Given the description of an element on the screen output the (x, y) to click on. 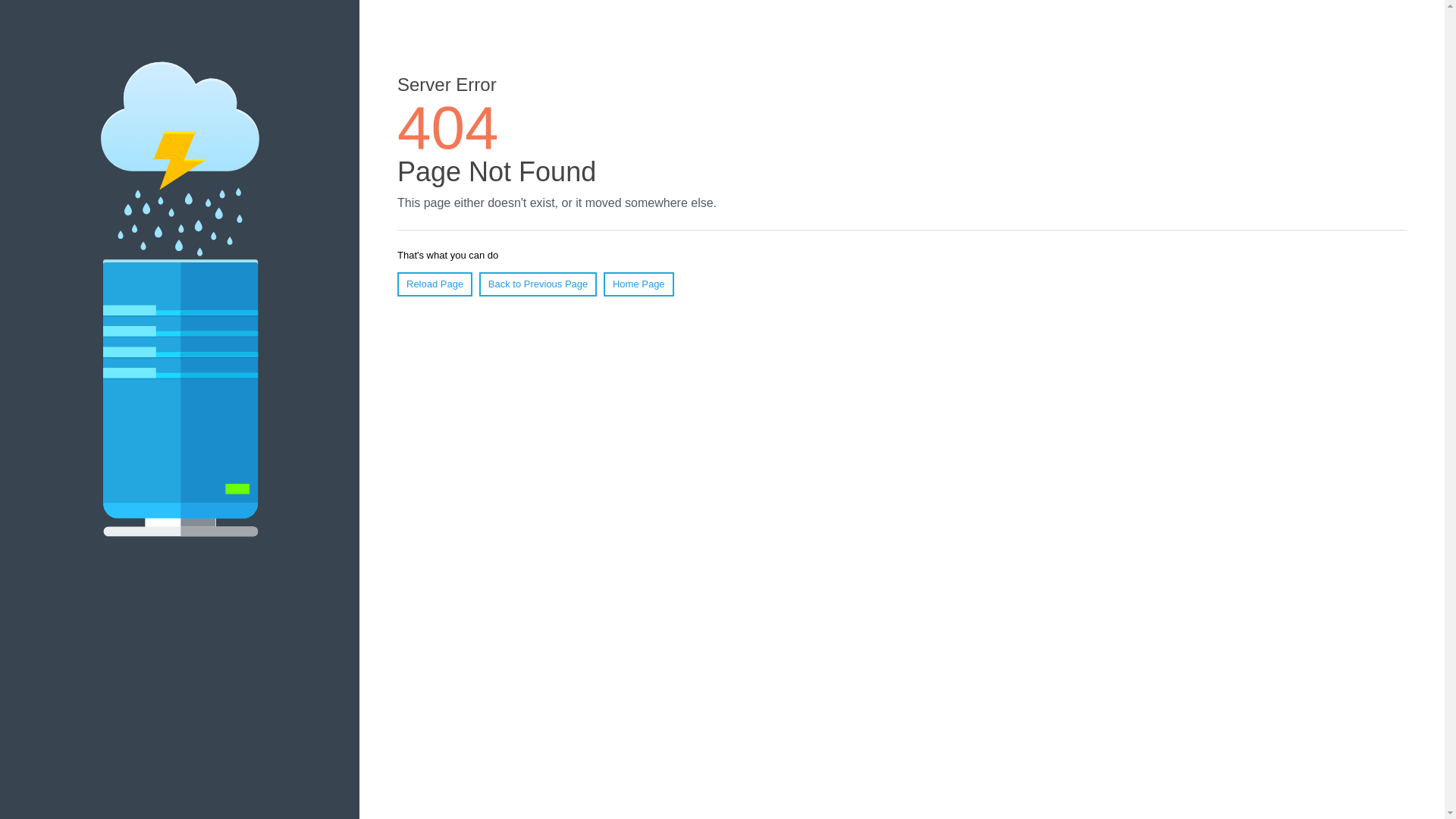
Back to Previous Page Element type: text (538, 284)
Home Page Element type: text (638, 284)
Reload Page Element type: text (434, 284)
